Given the description of an element on the screen output the (x, y) to click on. 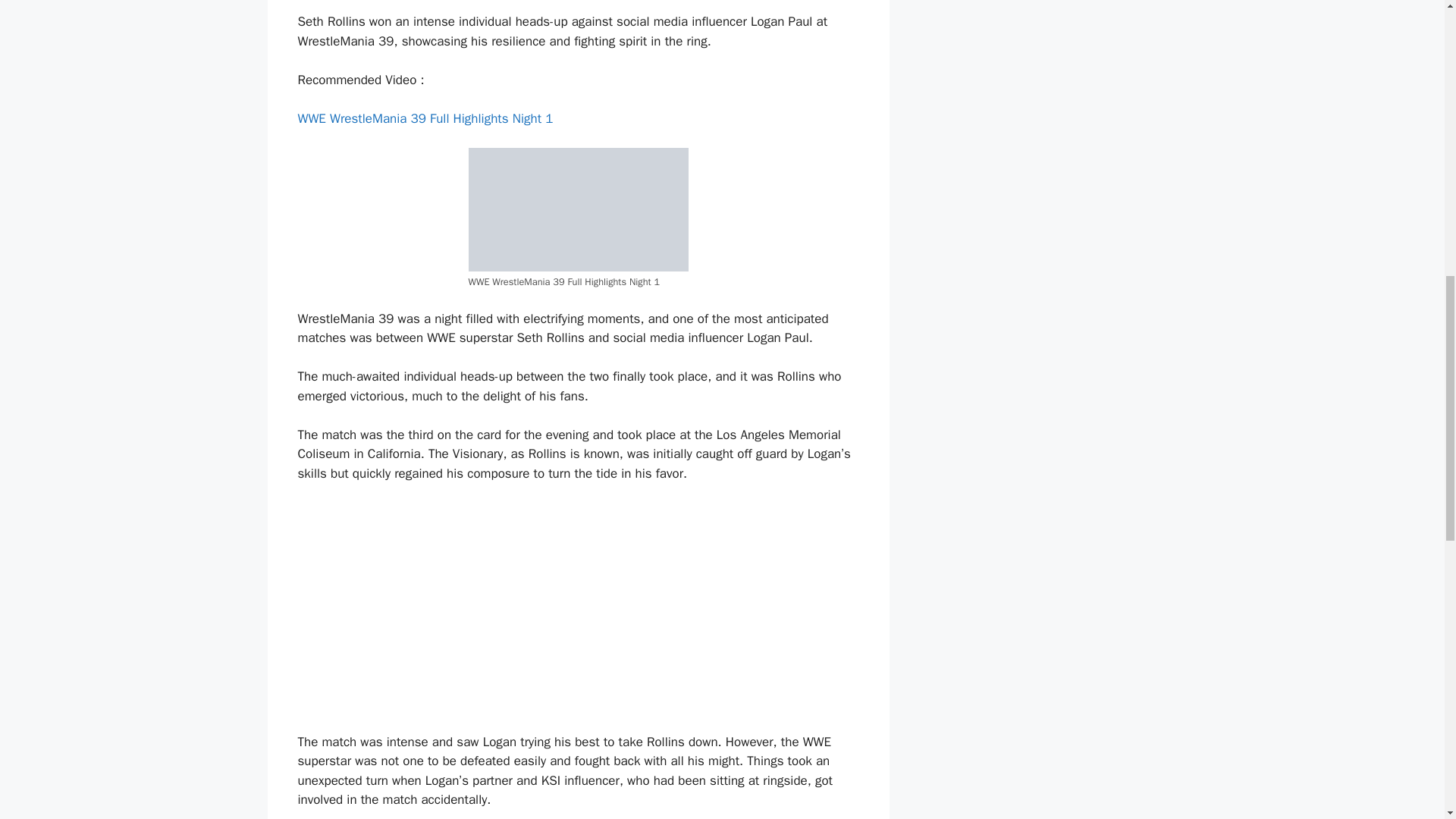
WWE WrestleMania 39 Full Highlights Night 1  (426, 118)
Scroll back to top (1406, 720)
YouTube video player (479, 604)
